Given the description of an element on the screen output the (x, y) to click on. 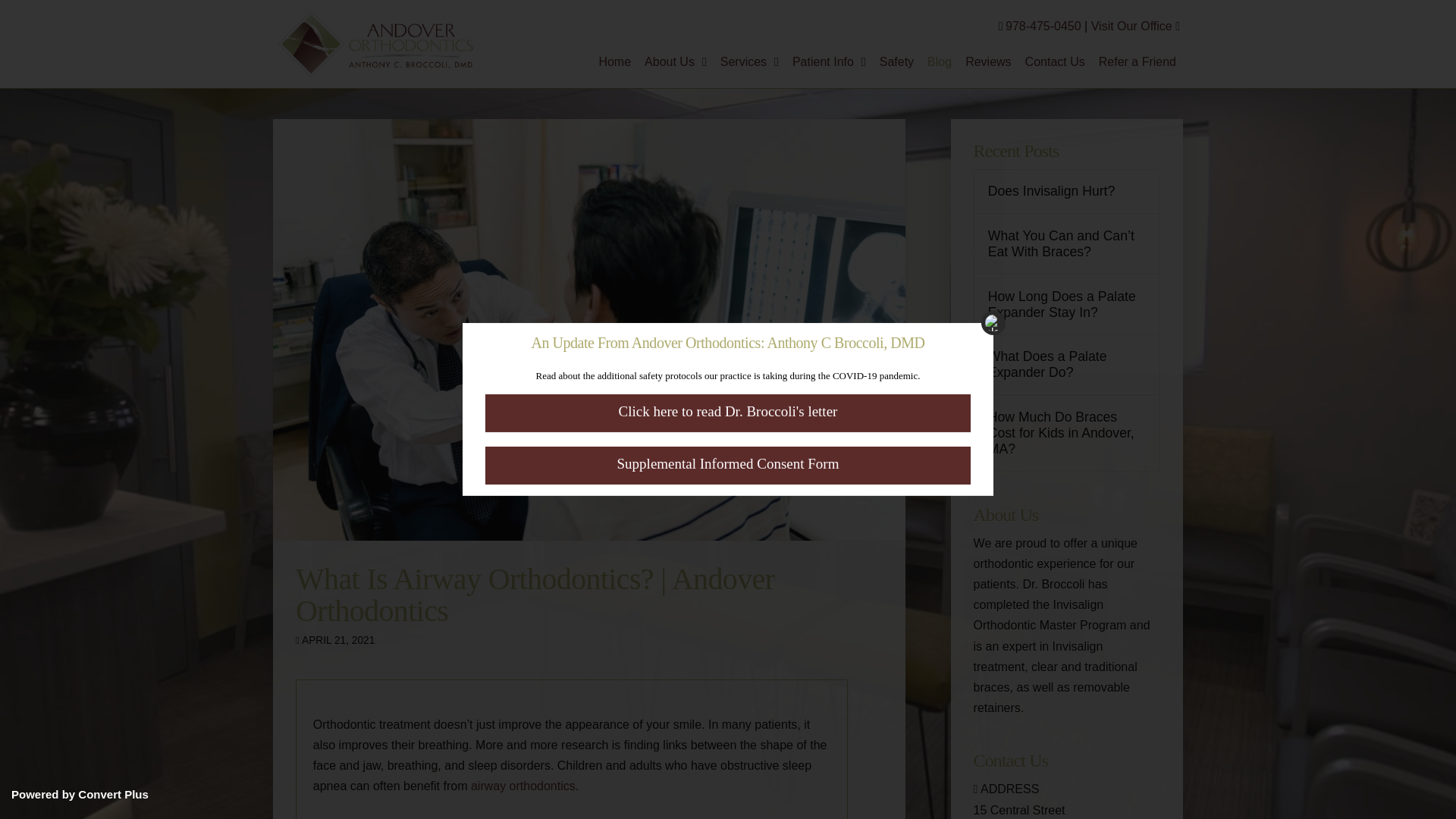
Services (749, 69)
Visit Our Office (1131, 25)
978-475-0450 (1043, 25)
Safety (896, 69)
Directons (1131, 25)
Home (614, 69)
Blog (939, 69)
Refer a Friend (1137, 69)
Phone Number (1043, 25)
About Us (675, 69)
airway orthodontics (522, 785)
Contact Us (1054, 69)
Click here to read more (727, 412)
Reviews (987, 69)
Patient Info (829, 69)
